Given the description of an element on the screen output the (x, y) to click on. 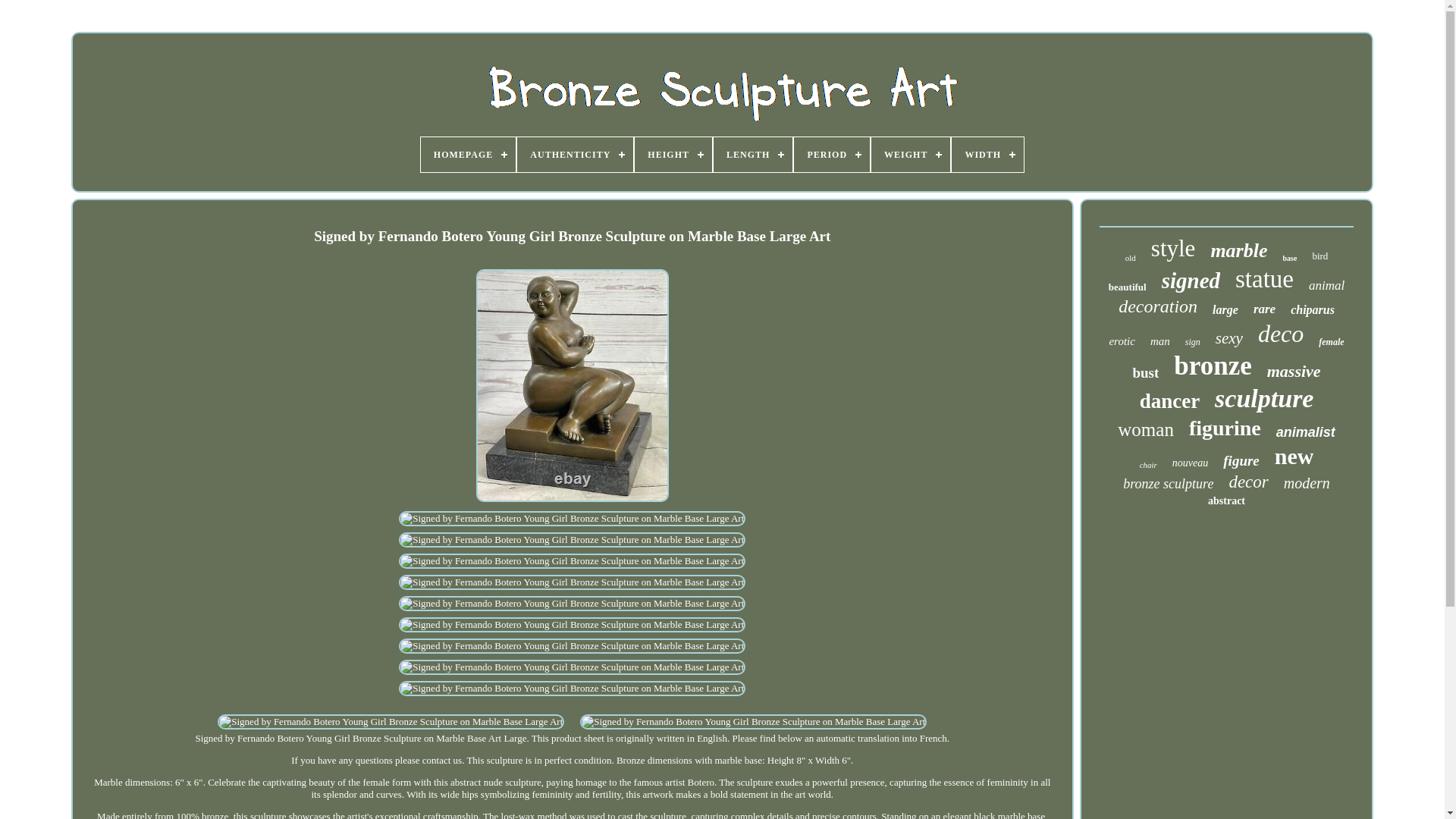
HEIGHT (672, 154)
LENGTH (752, 154)
HOMEPAGE (467, 154)
